Given the description of an element on the screen output the (x, y) to click on. 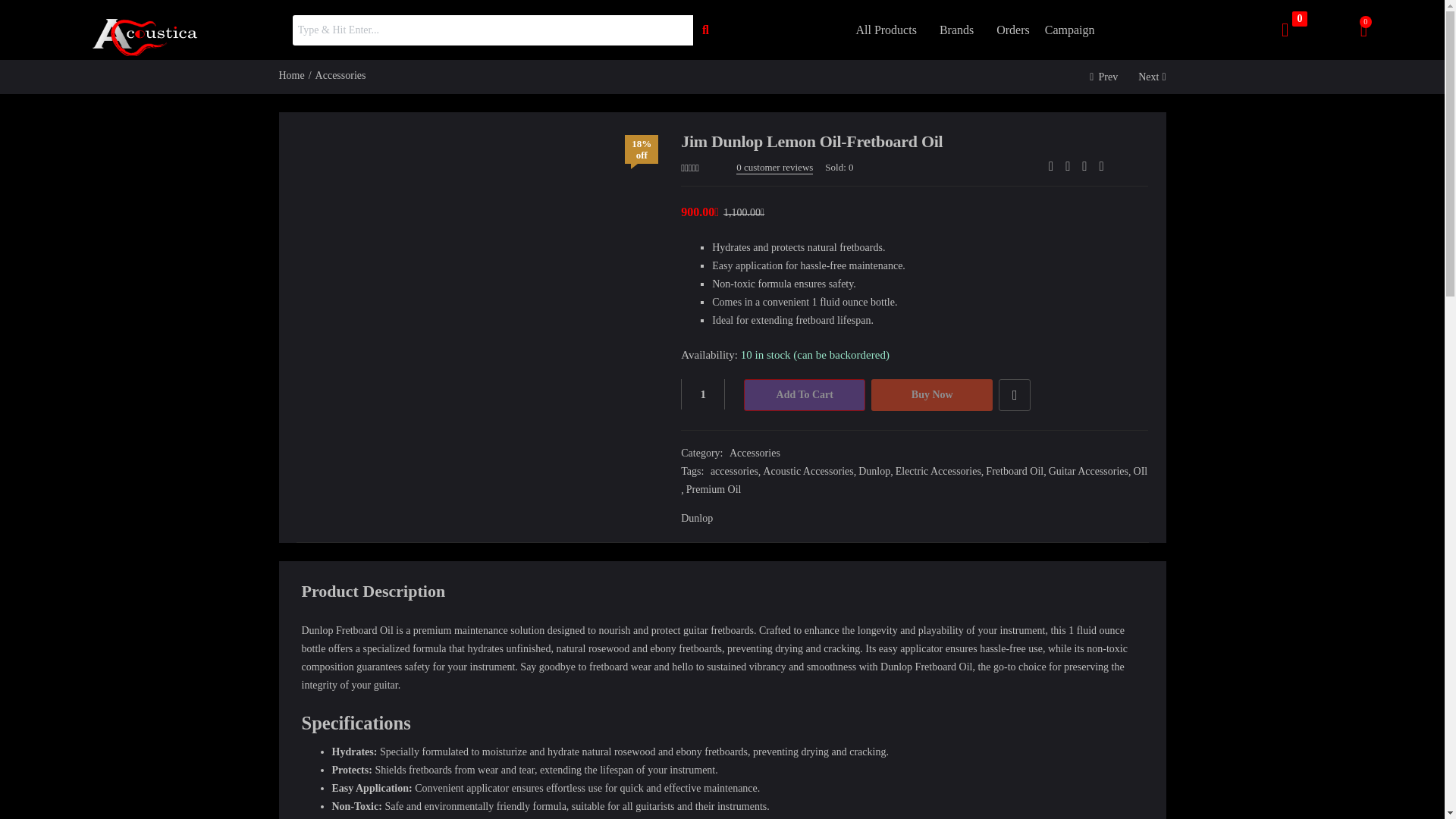
View brand (697, 518)
Orders (1012, 30)
Brands (959, 30)
1 (703, 394)
Search (492, 30)
Wishlist (1014, 395)
Campaign (1072, 30)
All Products (889, 30)
